Given the description of an element on the screen output the (x, y) to click on. 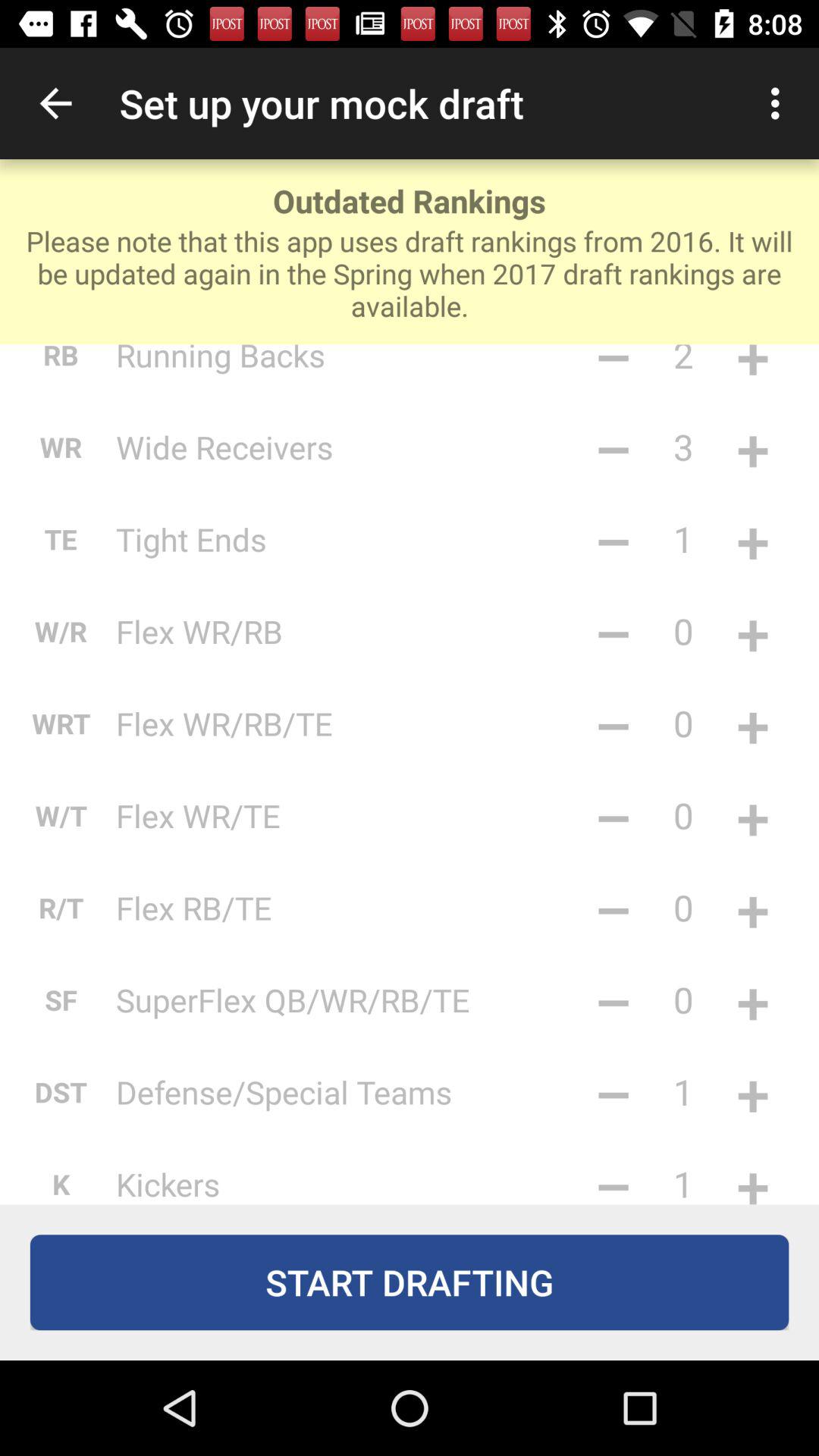
open the icon to the right of flex wr/te icon (613, 815)
